Given the description of an element on the screen output the (x, y) to click on. 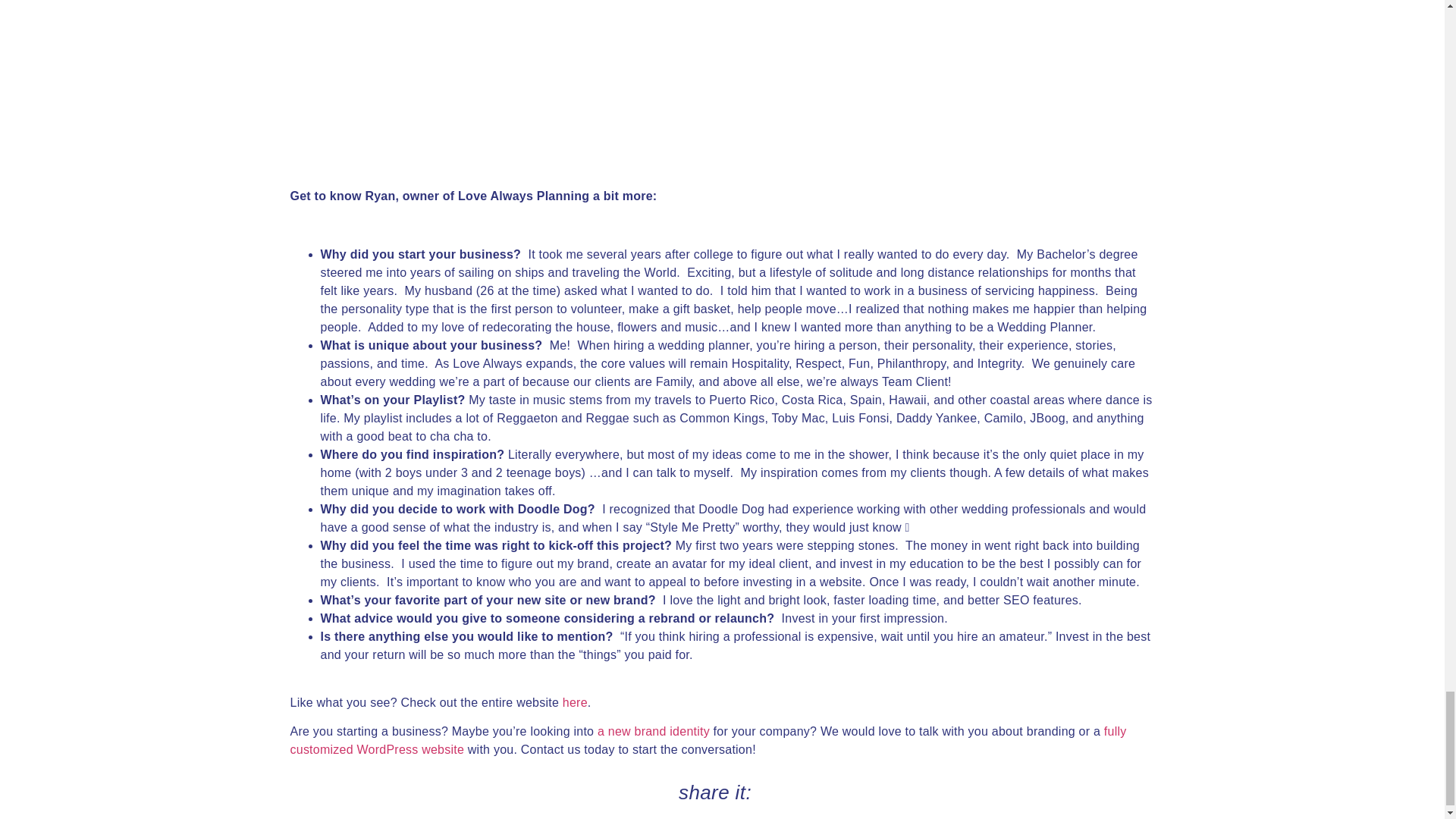
fully customized WordPress website (707, 739)
a new brand identity (653, 730)
here (575, 702)
